Given the description of an element on the screen output the (x, y) to click on. 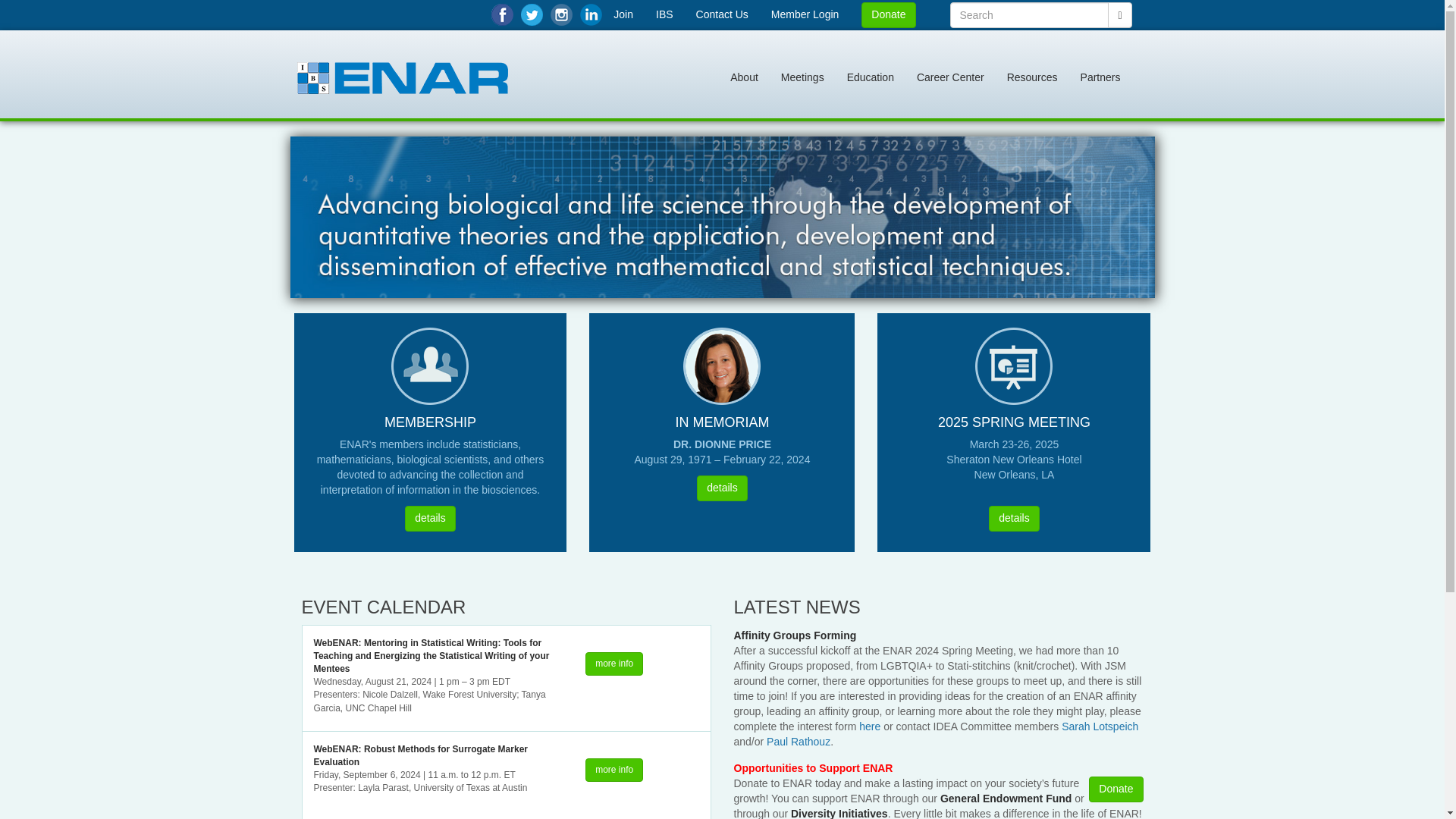
IBS (664, 14)
About (744, 77)
Member Login (805, 14)
Donate (888, 14)
Contact Us (721, 14)
Join (622, 14)
